Given the description of an element on the screen output the (x, y) to click on. 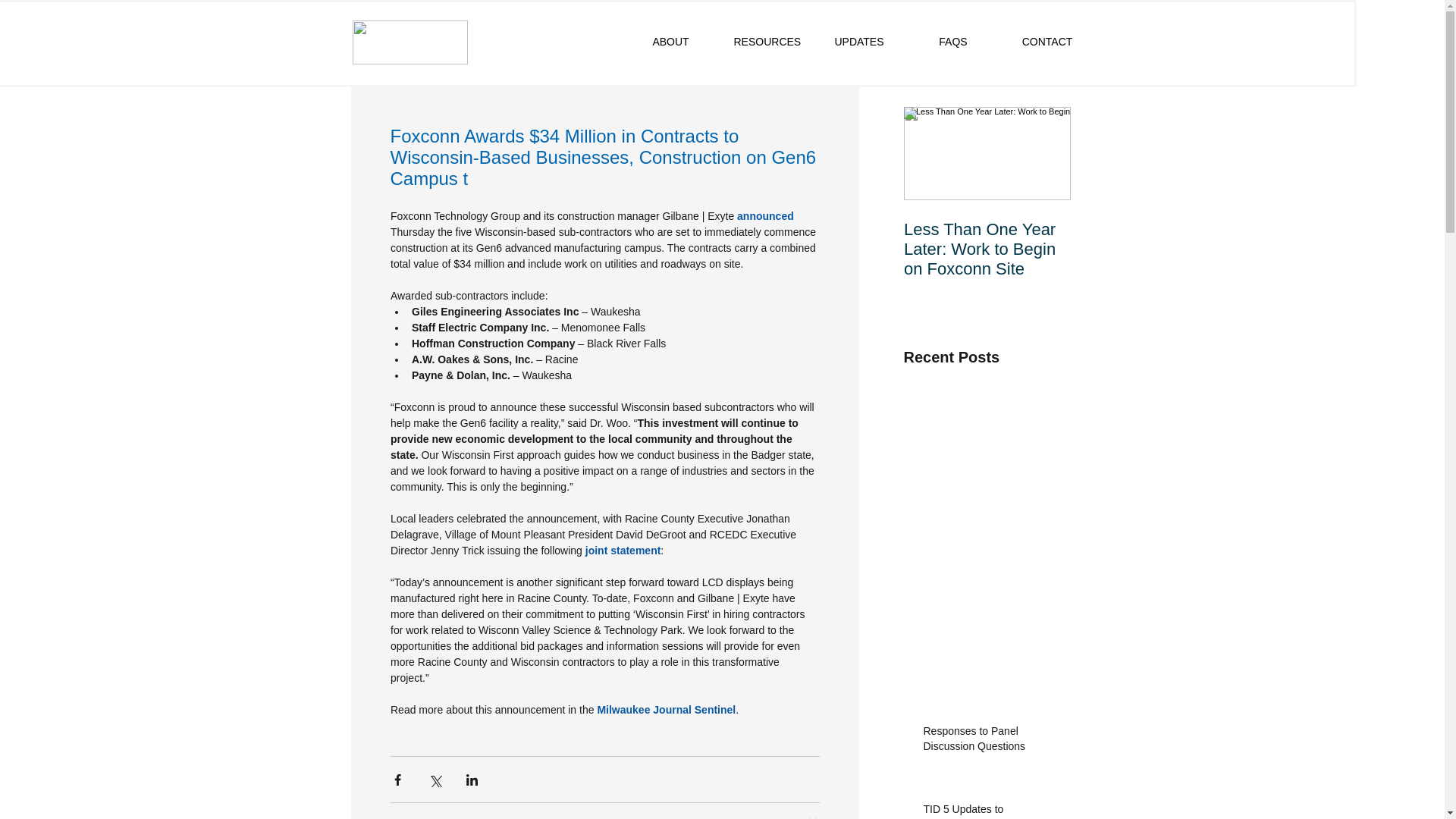
TID 5 Updates to Committees of the Whole (992, 810)
joint statement (623, 550)
CONTACT (1045, 42)
Less Than One Year Later: Work to Begin on Foxconn Site (987, 249)
Milwaukee Journal Sentinel (665, 709)
announced (764, 215)
Post not marked as liked (812, 817)
RESOURCES (763, 42)
Responses to Panel Discussion Questions (992, 741)
